Given the description of an element on the screen output the (x, y) to click on. 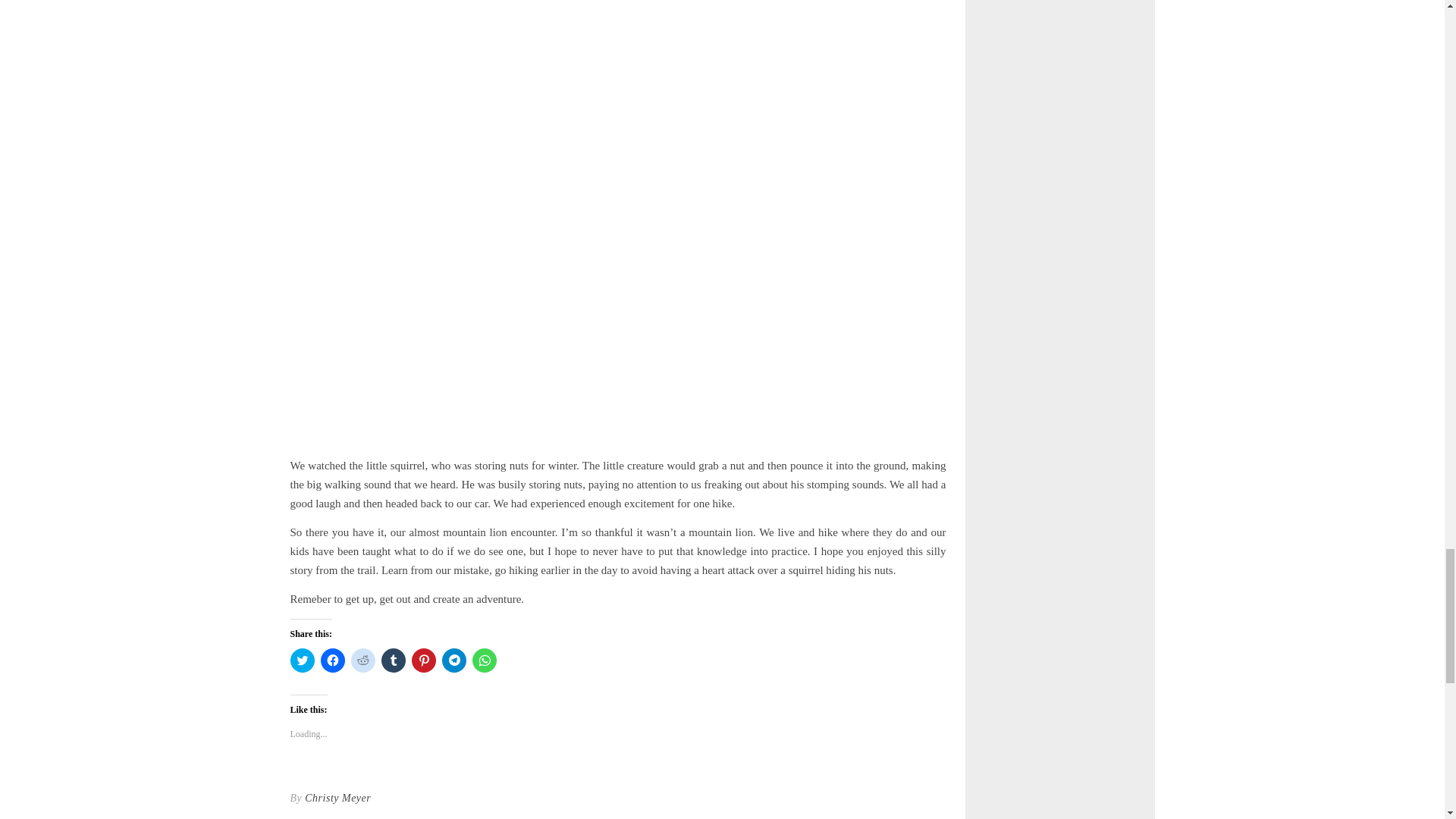
Click to share on Twitter (301, 660)
Posts by Christy Meyer (337, 798)
Click to share on Tumblr (392, 660)
Click to share on Facebook (331, 660)
Christy Meyer (337, 798)
Click to share on Reddit (362, 660)
Click to share on Pinterest (422, 660)
Click to share on WhatsApp (483, 660)
Click to share on Telegram (453, 660)
